Given the description of an element on the screen output the (x, y) to click on. 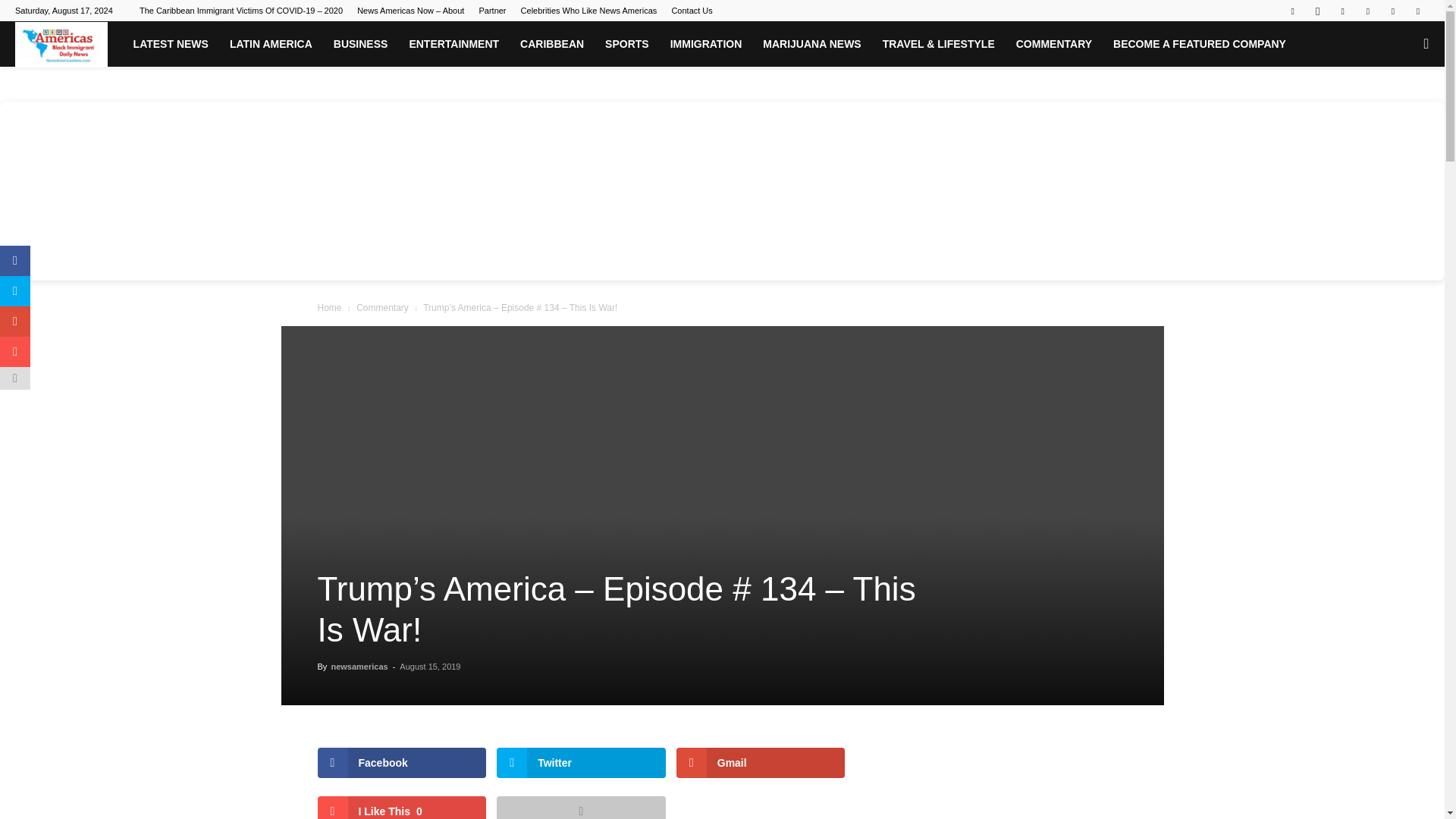
Youtube (1417, 10)
Contact  (691, 10)
BUSINESS (360, 43)
Black-immigrant-Daily-News (60, 44)
Linkedin (1343, 10)
Contact Us (691, 10)
LATEST NEWS (170, 43)
Twitter (1393, 10)
Instagram (1317, 10)
LATIN AMERICA (271, 43)
